Given the description of an element on the screen output the (x, y) to click on. 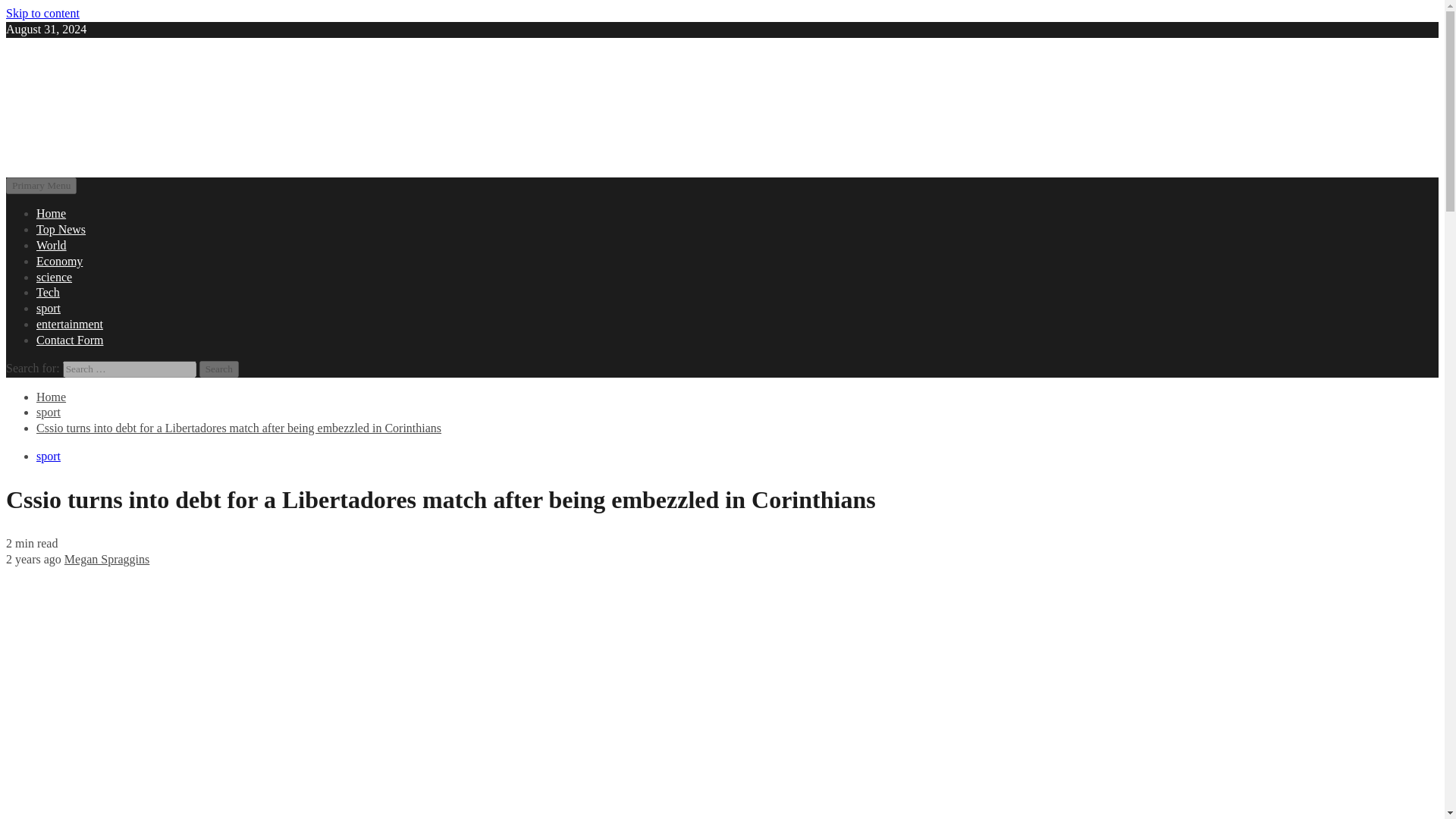
Skip to content (42, 12)
Home (50, 396)
sport (48, 411)
Search (218, 369)
sport (48, 455)
sport (48, 308)
World (51, 245)
science (53, 277)
Tech (47, 291)
Economy (59, 260)
